Given the description of an element on the screen output the (x, y) to click on. 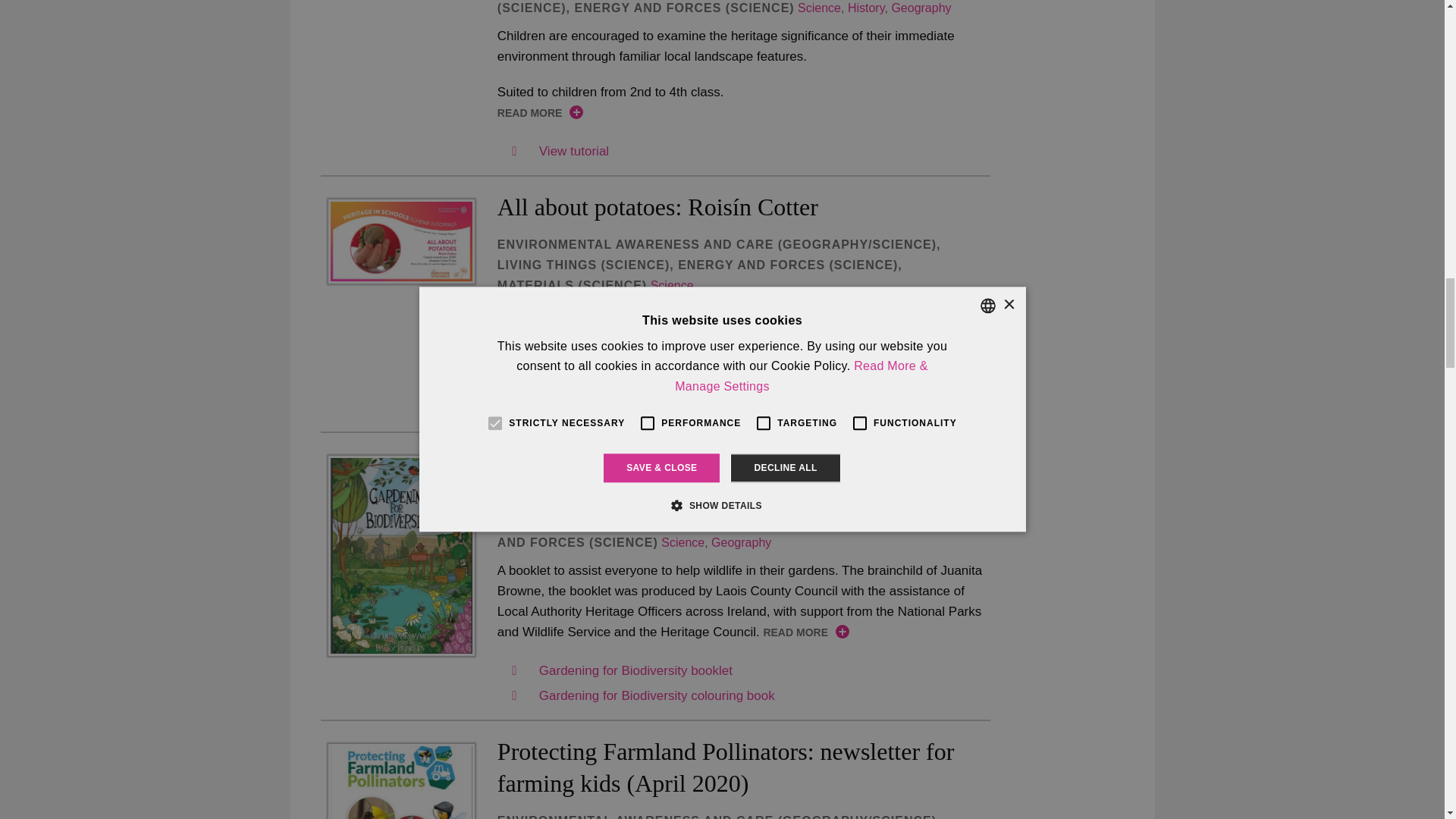
Gardening for Biodiversity (400, 555)
